Given the description of an element on the screen output the (x, y) to click on. 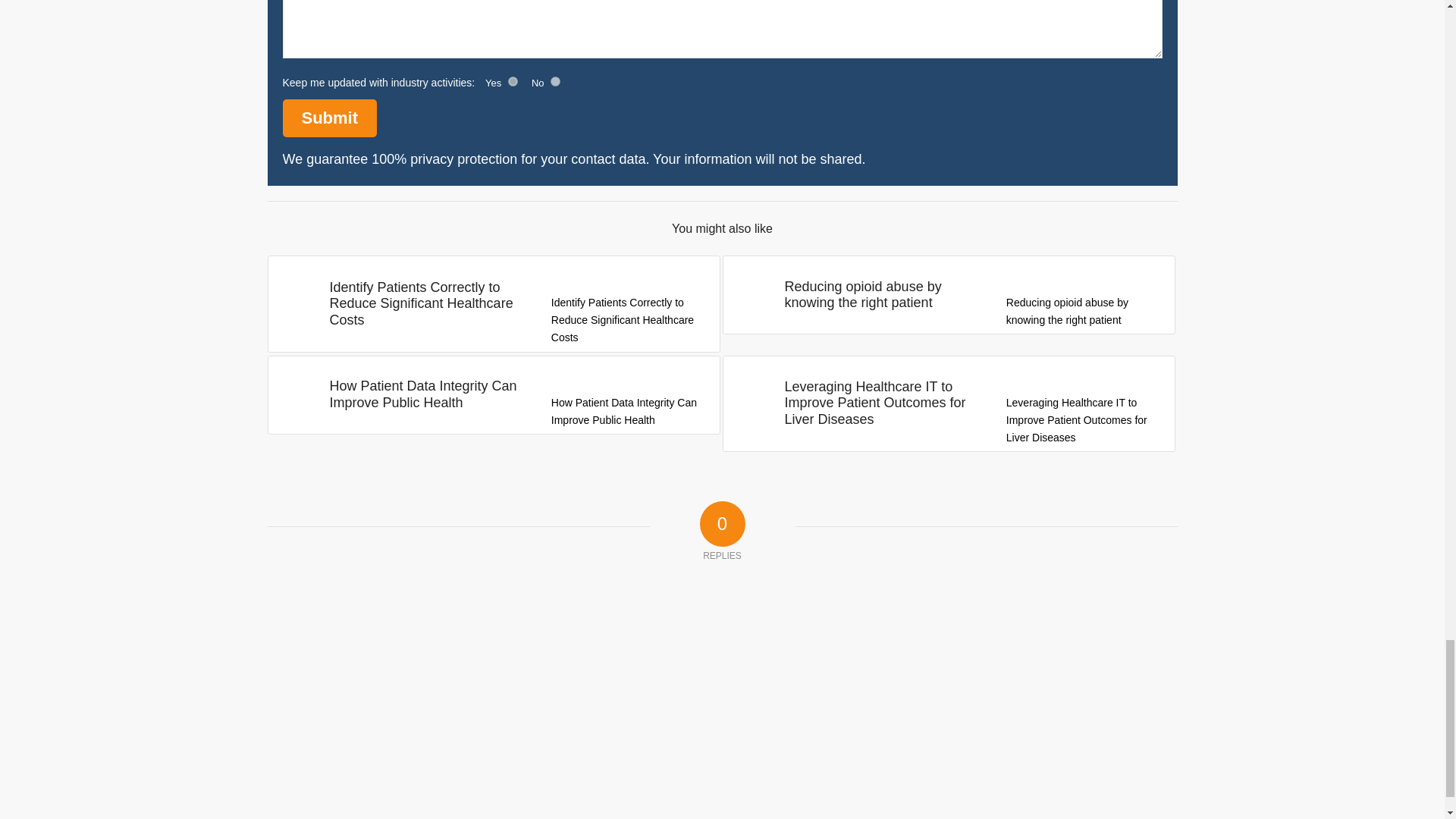
No (555, 81)
Submit (329, 118)
Yes (513, 81)
